Given the description of an element on the screen output the (x, y) to click on. 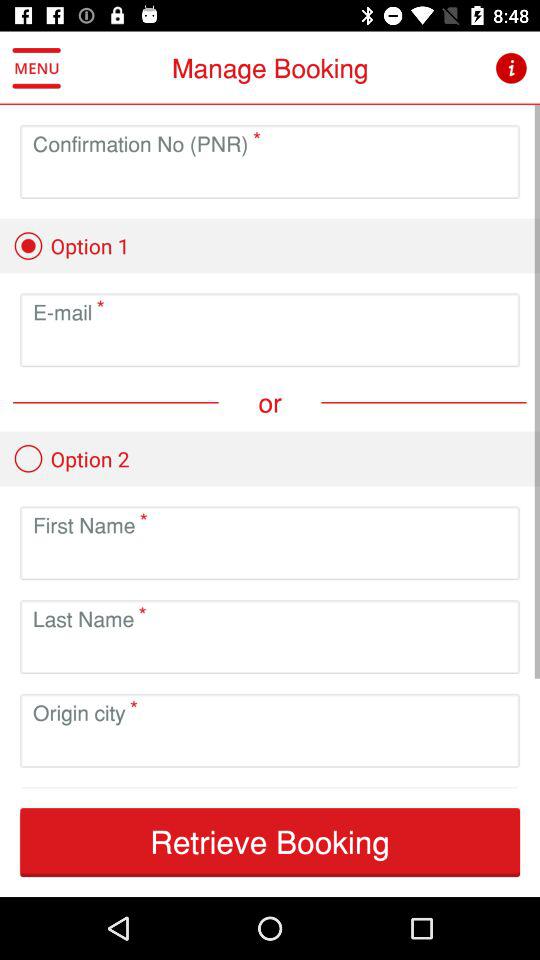
enter email adress (270, 345)
